Given the description of an element on the screen output the (x, y) to click on. 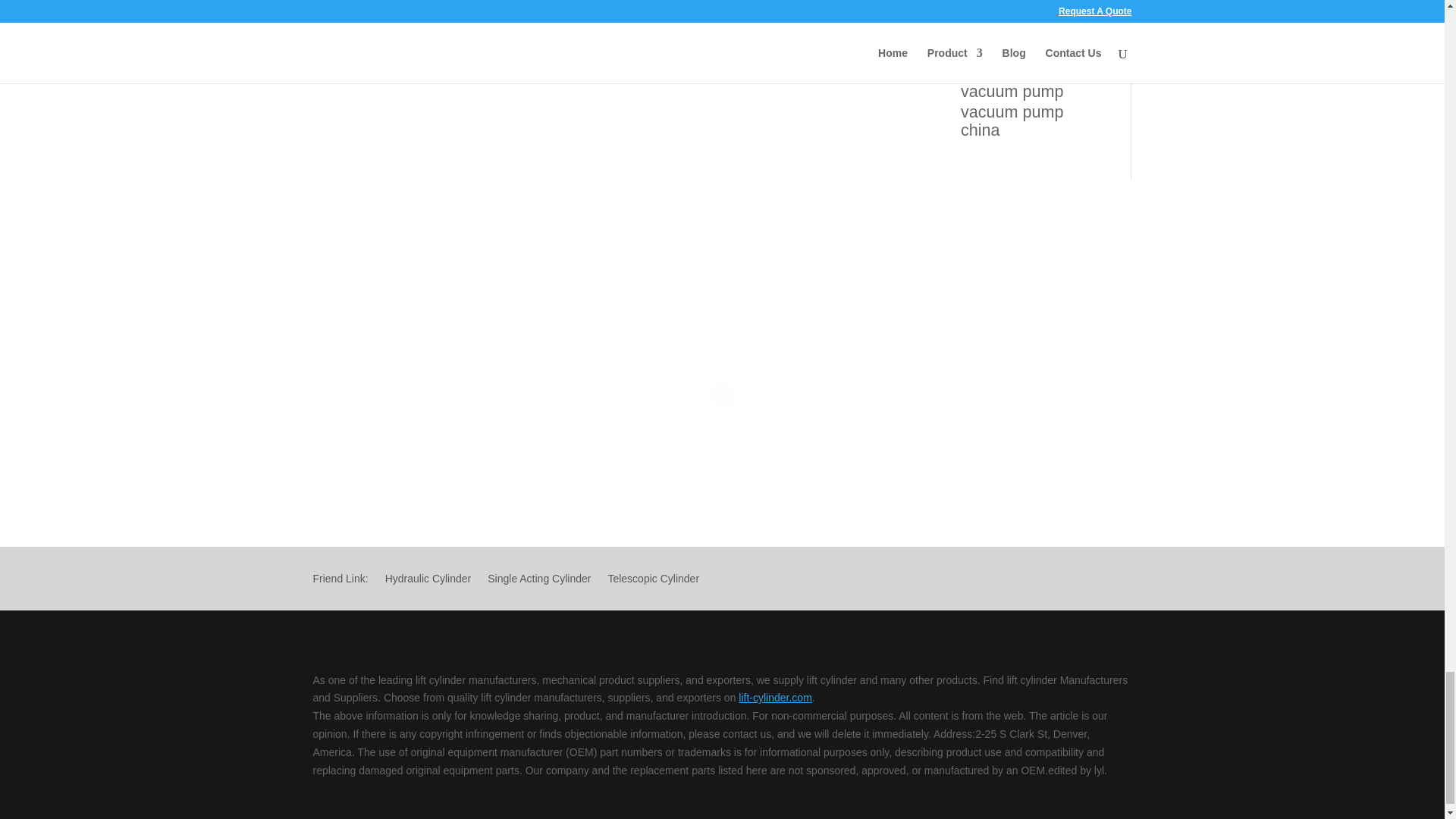
sale hydraulic (524, 3)
vacuum pump for ac (483, 19)
vacuum pump ac (608, 12)
vacuum cylinder (716, 3)
sale cylinder (452, 3)
vacuum pump (795, 3)
sale hydraulic cylinder (616, 3)
pump vacuum pump (366, 3)
vacuum pump china (380, 19)
